Given the description of an element on the screen output the (x, y) to click on. 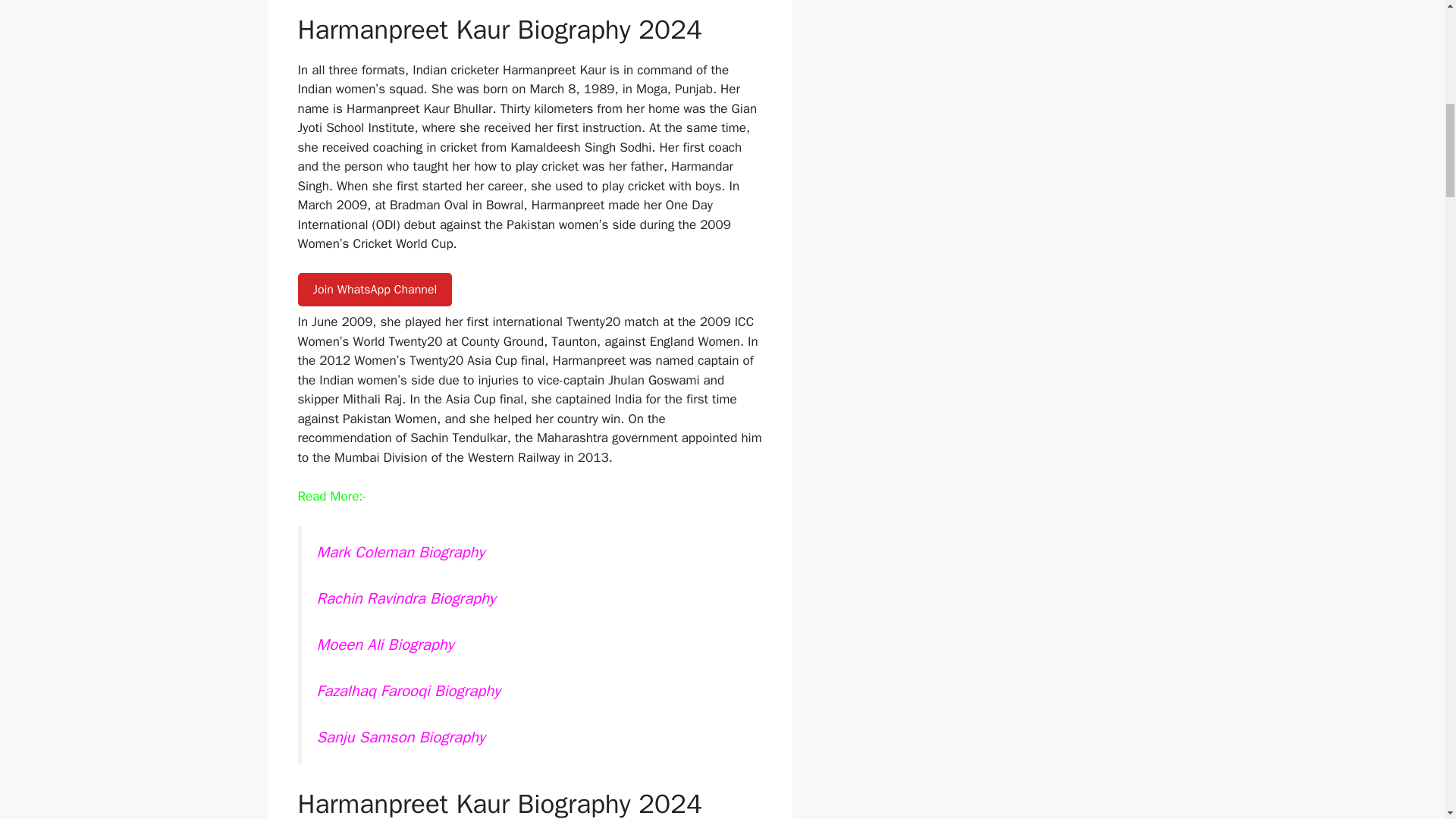
Mark Coleman Biography (400, 551)
Sanju Samson Biography (400, 736)
Join WhatsApp Channel (374, 289)
Fazalhaq Farooqi Biography (408, 690)
Moeen Ali Biography  (387, 644)
Join WhatsApp Channel (374, 289)
Rachin Ravindra Biography (406, 598)
